Given the description of an element on the screen output the (x, y) to click on. 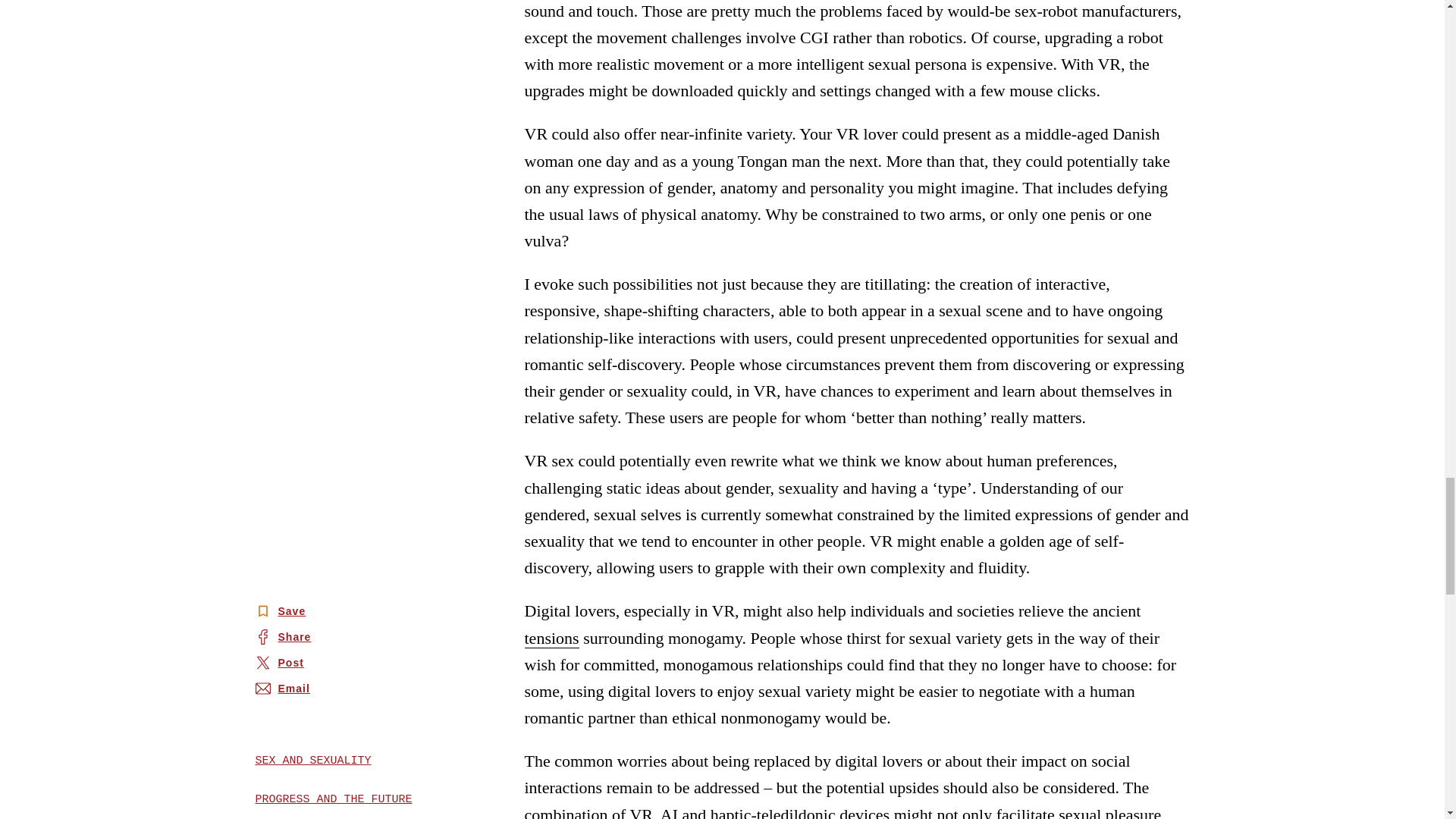
SEX AND SEXUALITY (343, 760)
tensions (551, 638)
PROGRESS AND THE FUTURE (343, 799)
